Given the description of an element on the screen output the (x, y) to click on. 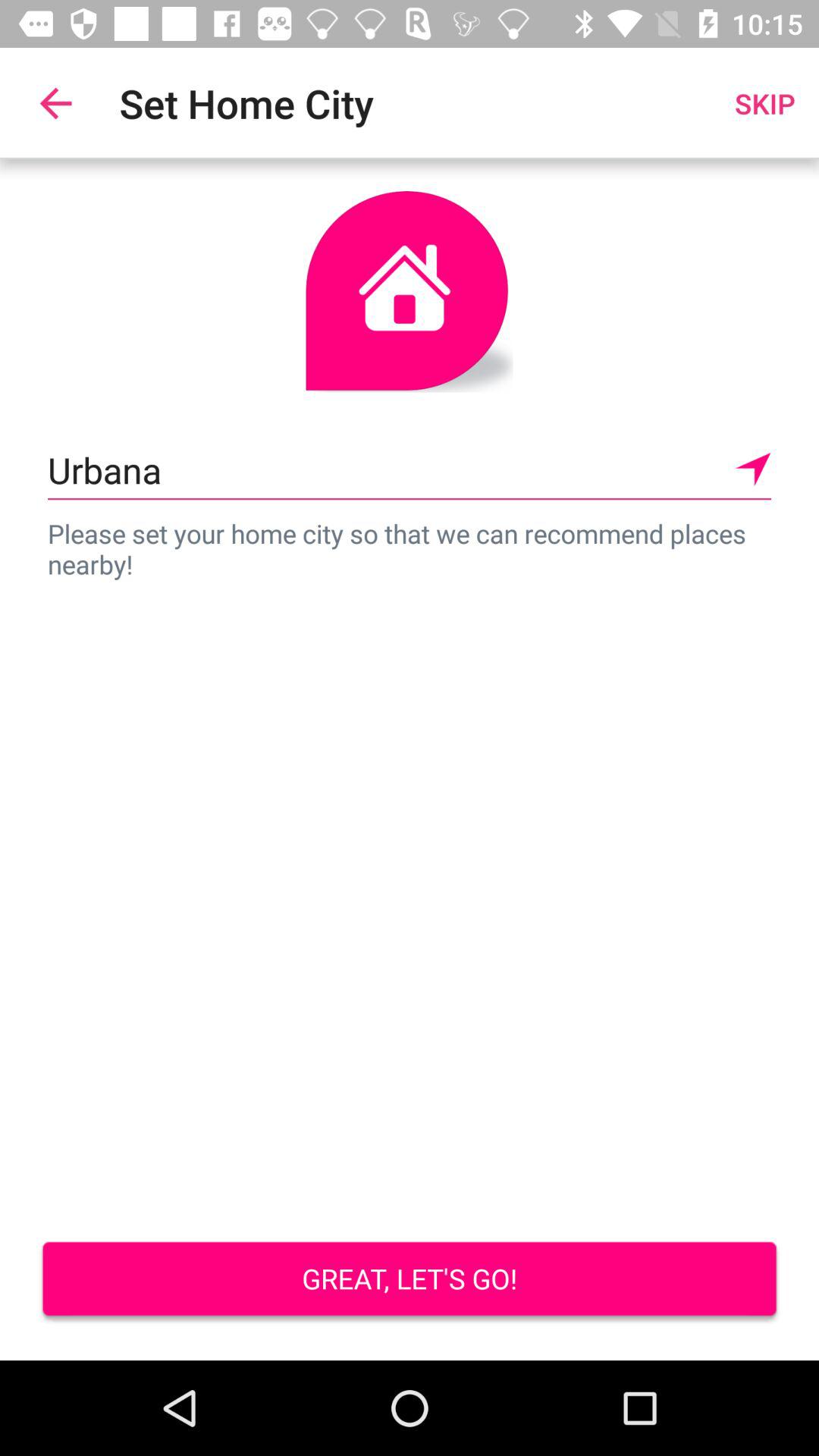
swipe to the urbana icon (409, 469)
